Given the description of an element on the screen output the (x, y) to click on. 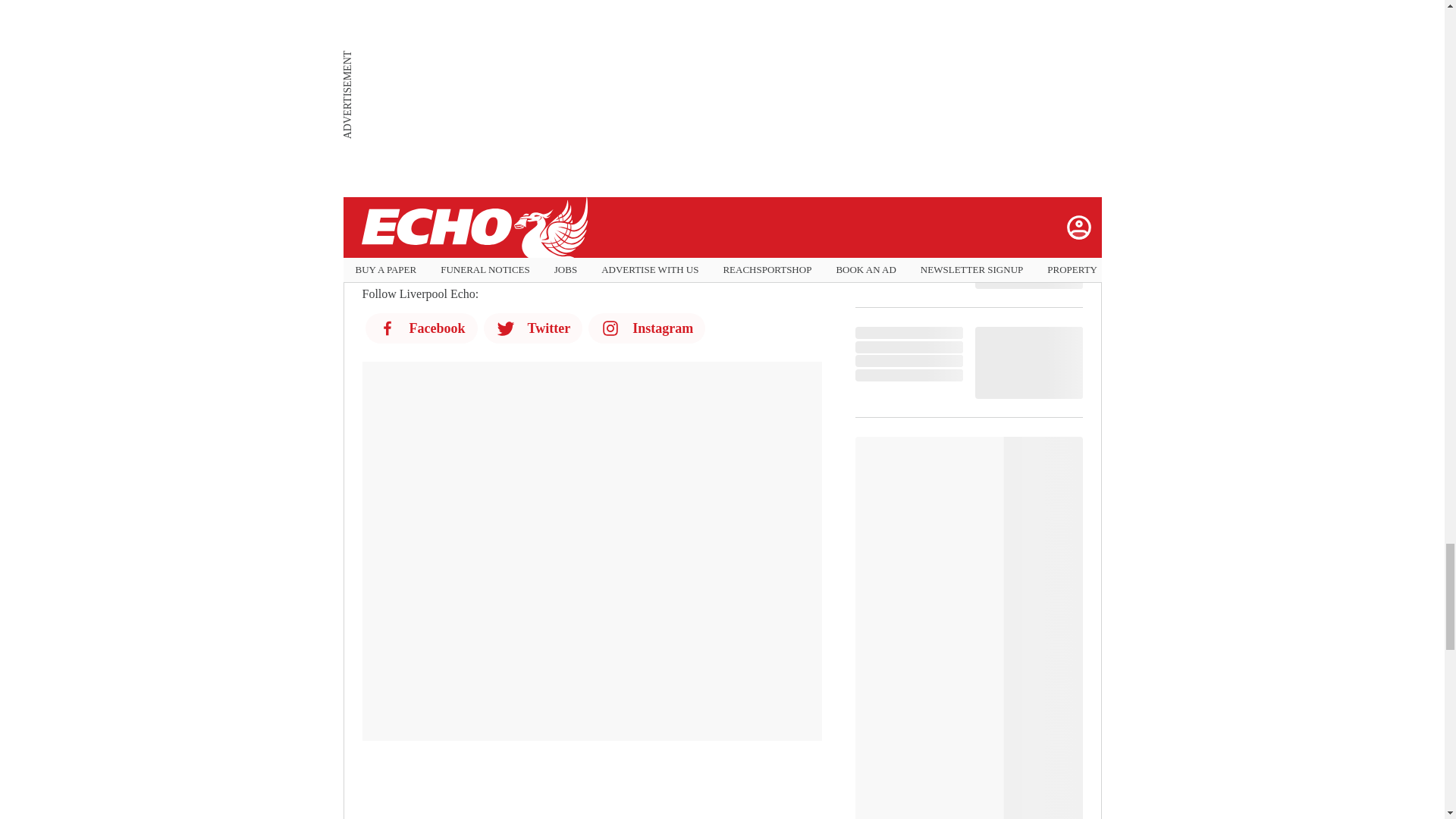
Instagram (646, 327)
Twitter (533, 327)
Facebook (421, 327)
